Given the description of an element on the screen output the (x, y) to click on. 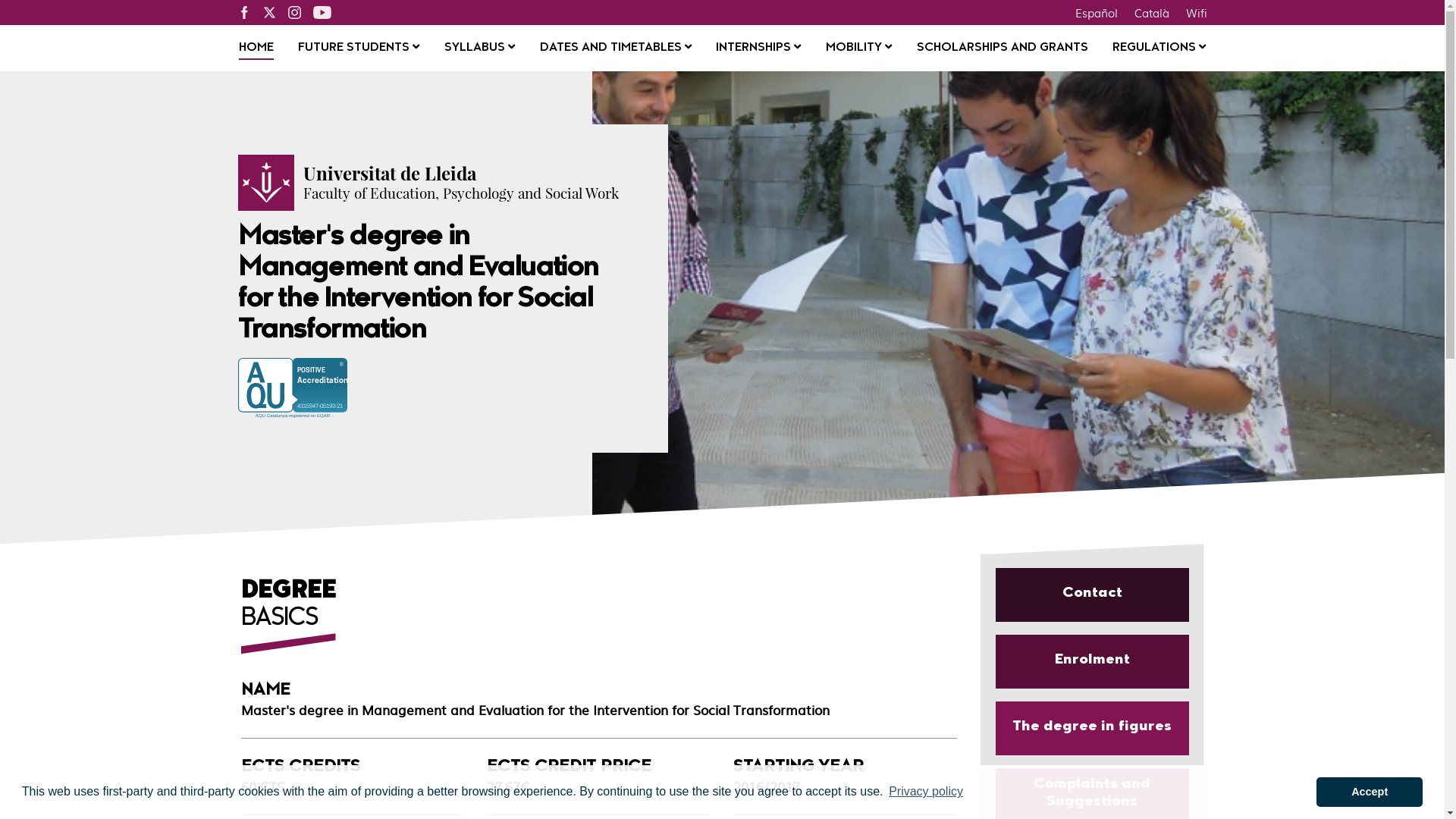
FUTURE STUDENTS Element type: text (358, 48)
SCHOLARSHIPS AND GRANTS Element type: text (1002, 48)
HOME Element type: text (255, 48)
SegellAcreditacio_MGAITSocial_en Element type: hover (300, 389)
DATES AND TIMETABLES Element type: text (615, 48)
REGULATIONS Element type: text (1158, 48)
Privacy policy Element type: text (925, 791)
SYLLABUS Element type: text (479, 48)
Wifi Element type: text (1195, 12)
Accept Element type: text (1369, 791)
INTERNSHIPS Element type: text (757, 48)
MOBILITY Element type: text (858, 48)
